Given the description of an element on the screen output the (x, y) to click on. 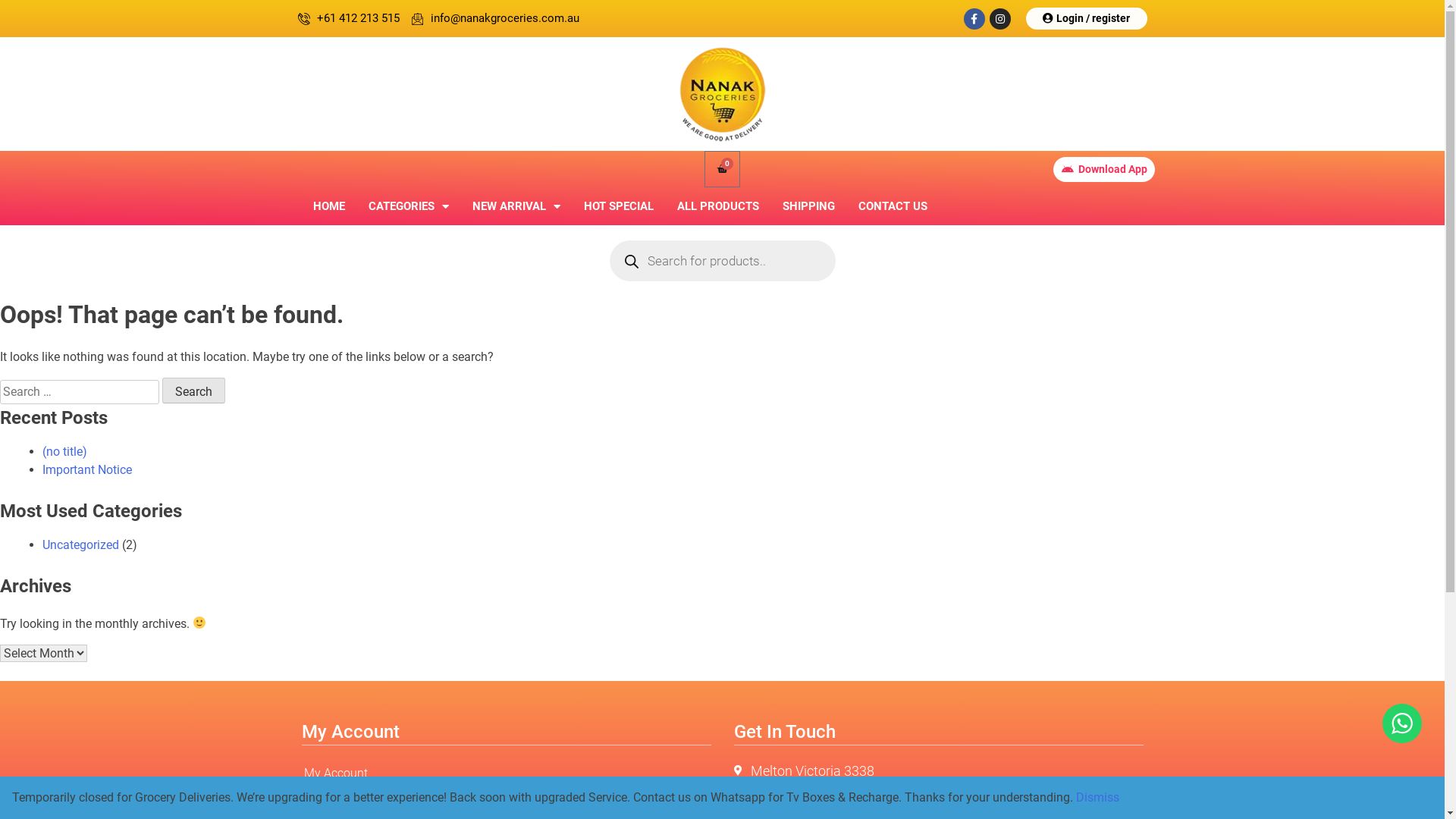
SHIPPING Element type: text (807, 206)
Dismiss Element type: text (1097, 797)
Login / register Element type: text (1085, 18)
+61 412 213 515 Element type: text (347, 18)
Points Element type: text (506, 799)
Uncategorized Element type: text (80, 544)
info@nanakgroceries.com.au Element type: text (494, 18)
0 Element type: text (722, 168)
Search Element type: text (193, 390)
CONTACT US Element type: text (892, 206)
My Account Element type: text (506, 773)
WhatsApp us Element type: hover (1401, 723)
+61 412 213 515 Element type: text (938, 799)
ALL PRODUCTS Element type: text (717, 206)
Important Notice Element type: text (86, 469)
HOT SPECIAL Element type: text (617, 206)
NEW ARRIVAL Element type: text (516, 206)
CATEGORIES Element type: text (407, 206)
HOME Element type: text (328, 206)
Download App Element type: text (1103, 169)
(no title) Element type: text (64, 451)
